Given the description of an element on the screen output the (x, y) to click on. 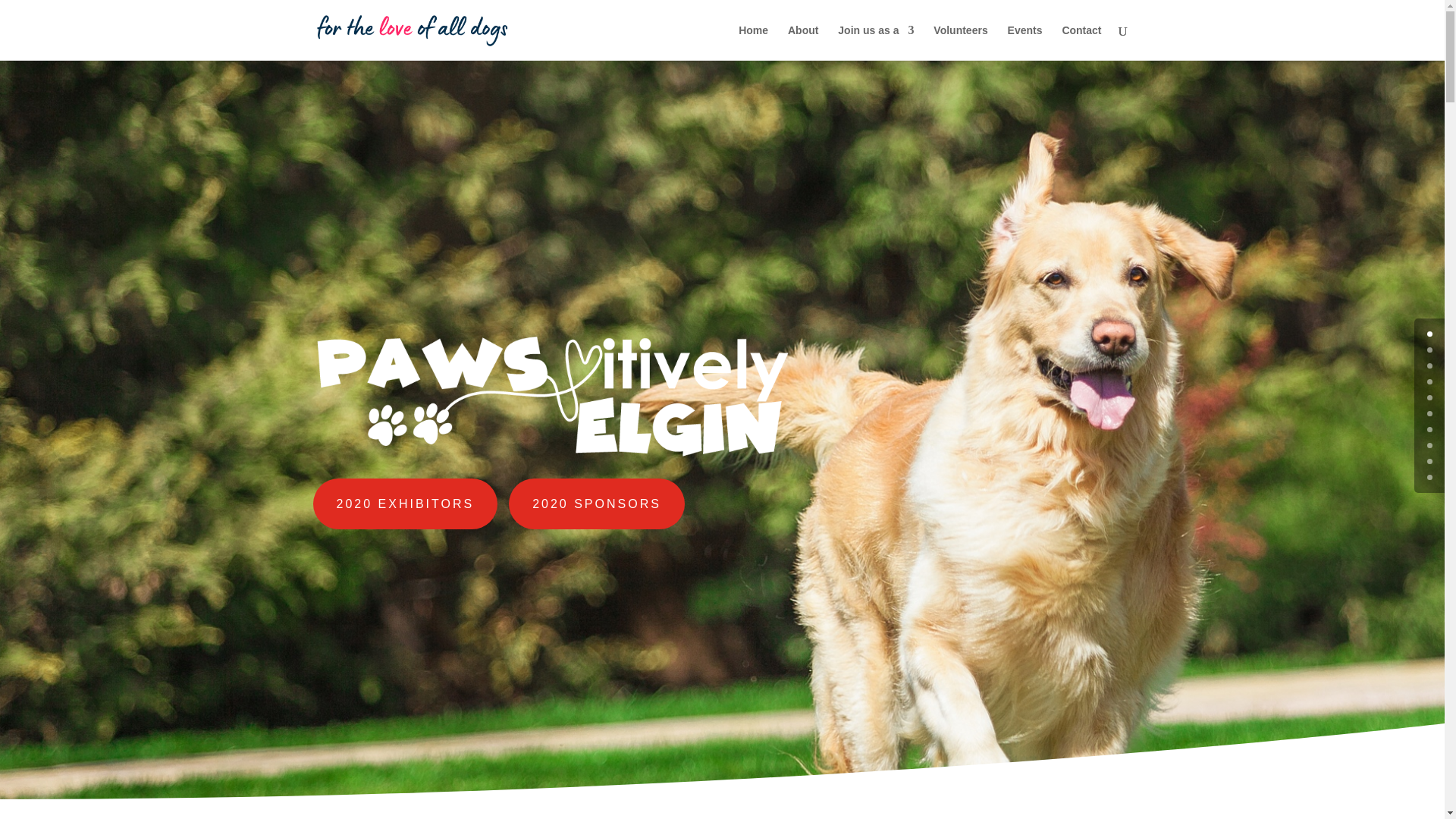
Volunteers (960, 42)
2020 EXHIBITORS (405, 503)
Events (1024, 42)
Contact (1080, 42)
2020 SPONSORS (596, 503)
Join us as a (876, 42)
